Given the description of an element on the screen output the (x, y) to click on. 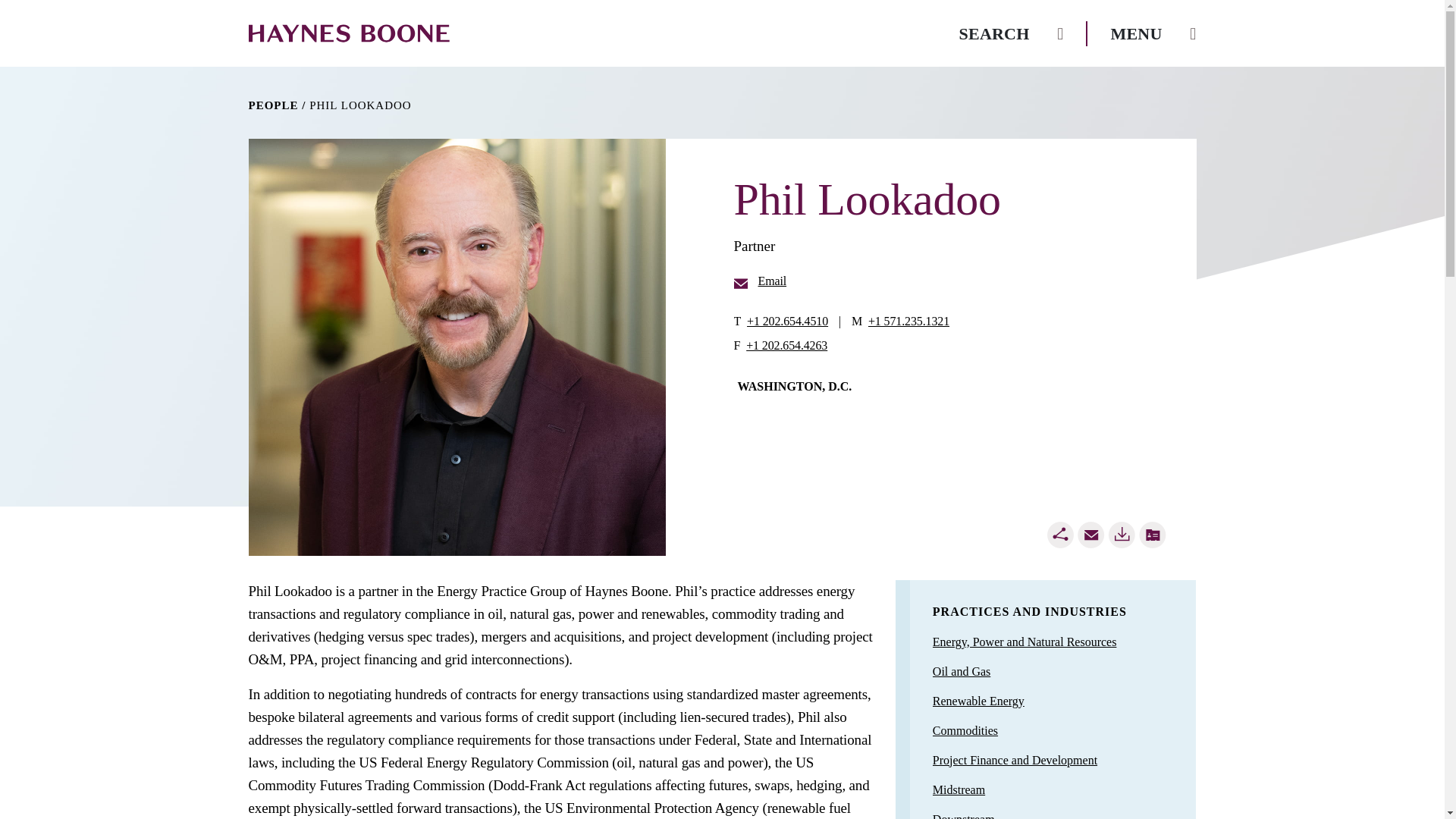
V-Card (1152, 534)
Haynes Boone (348, 33)
Search (1011, 33)
Renewable Energy (979, 700)
Menu (1152, 33)
PEOPLE (273, 105)
Energy, Power and Natural Resources (1024, 641)
SEARCH (1011, 33)
WASHINGTON, D.C. (793, 386)
Email (1091, 534)
Midstream (959, 788)
Download PDF (1121, 534)
Email (760, 280)
Project Finance and Development (1015, 759)
Commodities (965, 729)
